Given the description of an element on the screen output the (x, y) to click on. 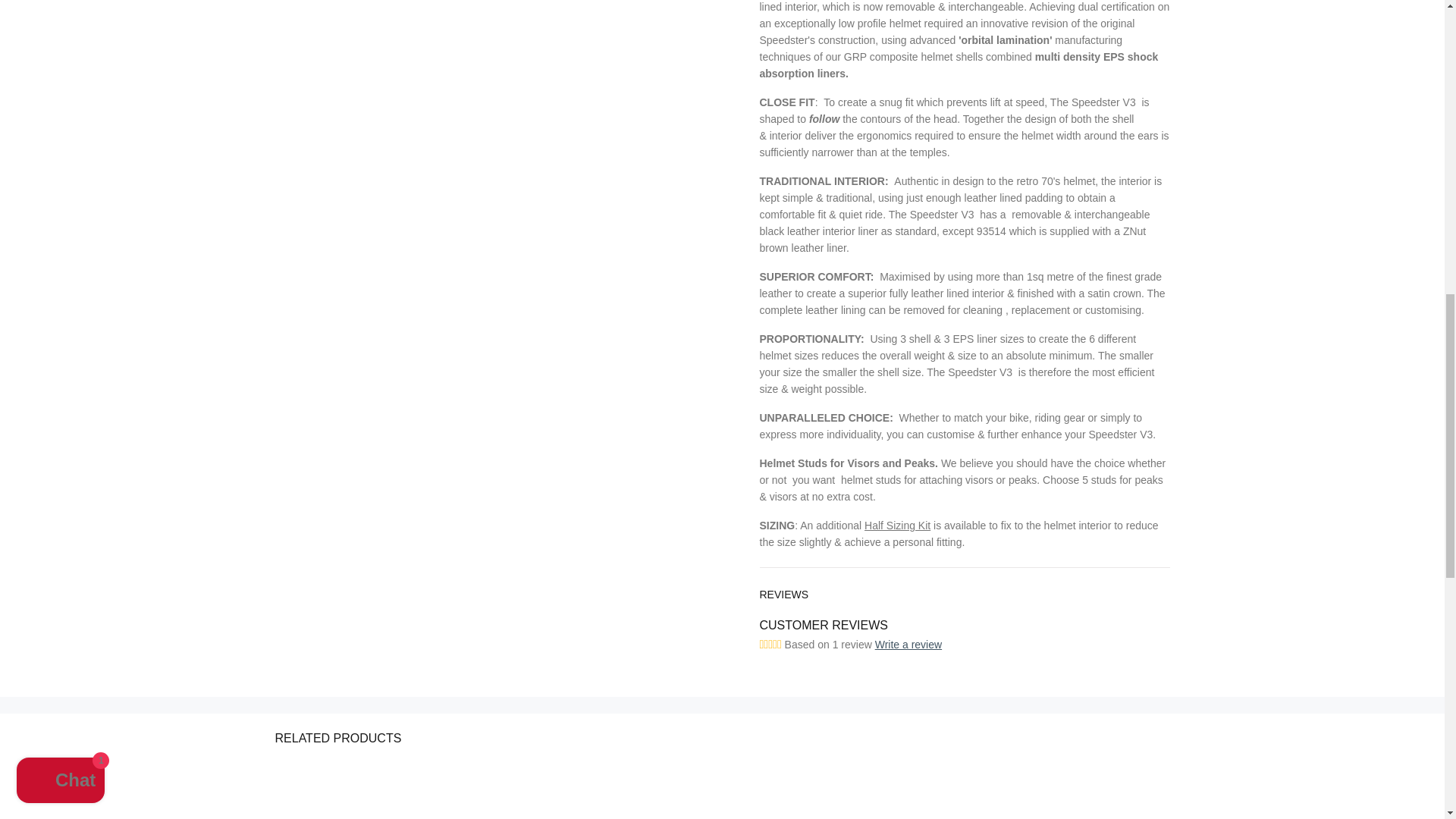
Davida Helmet Half Sizing Kit (897, 525)
